Given the description of an element on the screen output the (x, y) to click on. 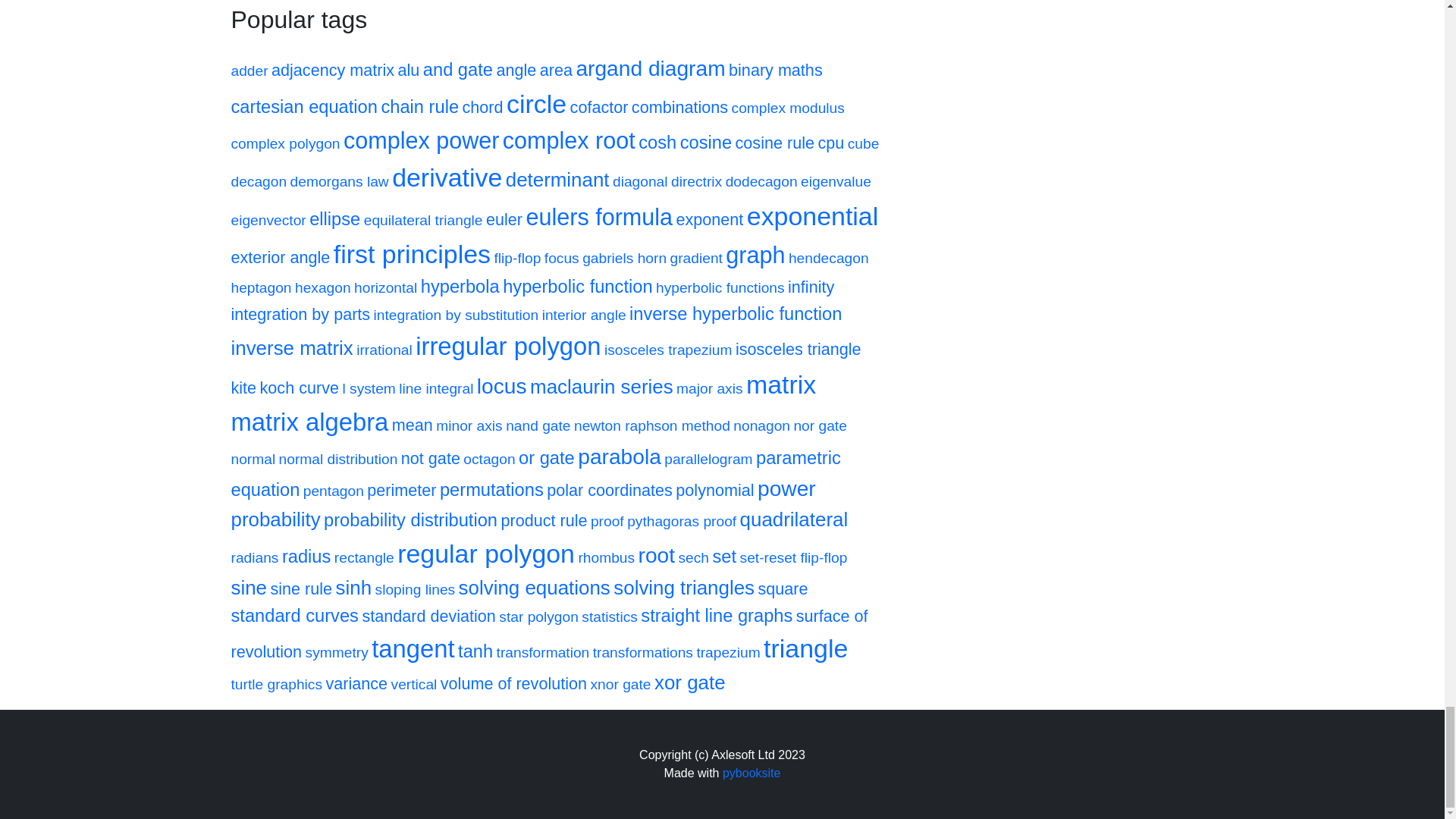
combinations (679, 108)
and gate (458, 71)
adjacency matrix (332, 71)
complex root (568, 144)
angle (515, 71)
cofactor (599, 108)
complex power (421, 144)
complex polygon (284, 144)
cartesian equation (303, 108)
alu (408, 71)
adder (248, 71)
argand diagram (650, 71)
chord (483, 108)
cosine (705, 144)
complex modulus (788, 108)
